Given the description of an element on the screen output the (x, y) to click on. 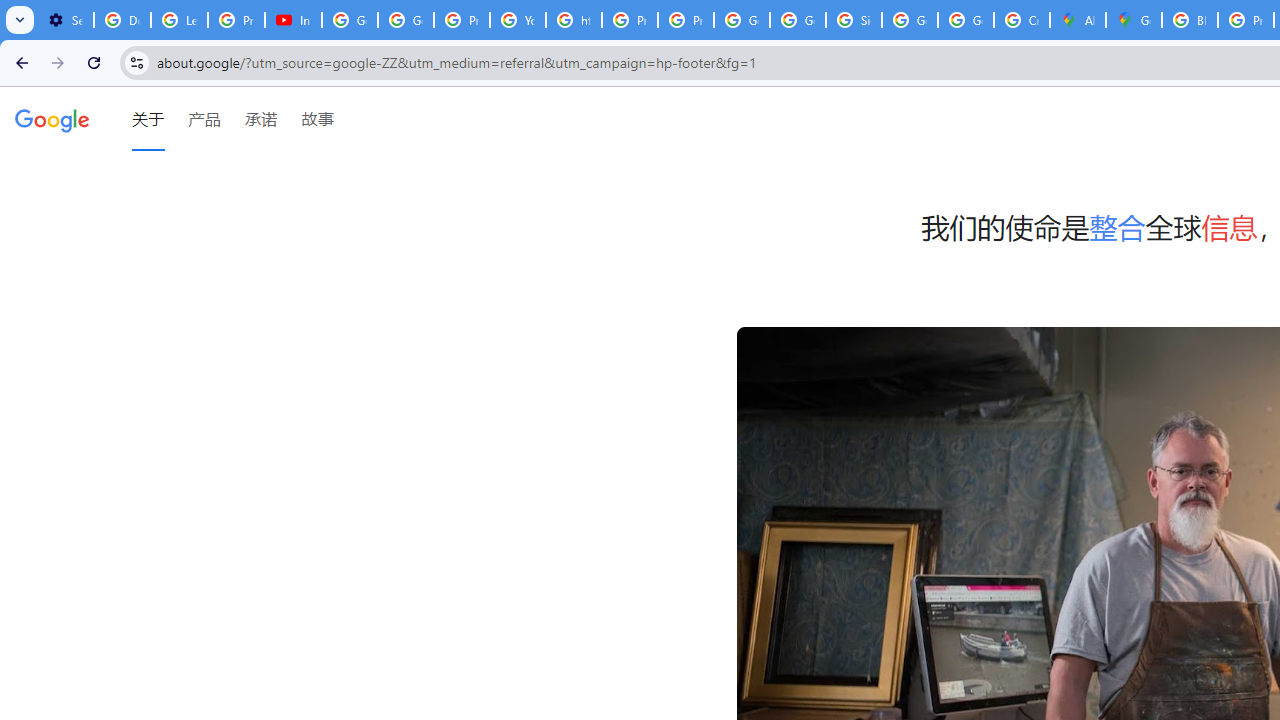
Create your Google Account (1021, 20)
